Given the description of an element on the screen output the (x, y) to click on. 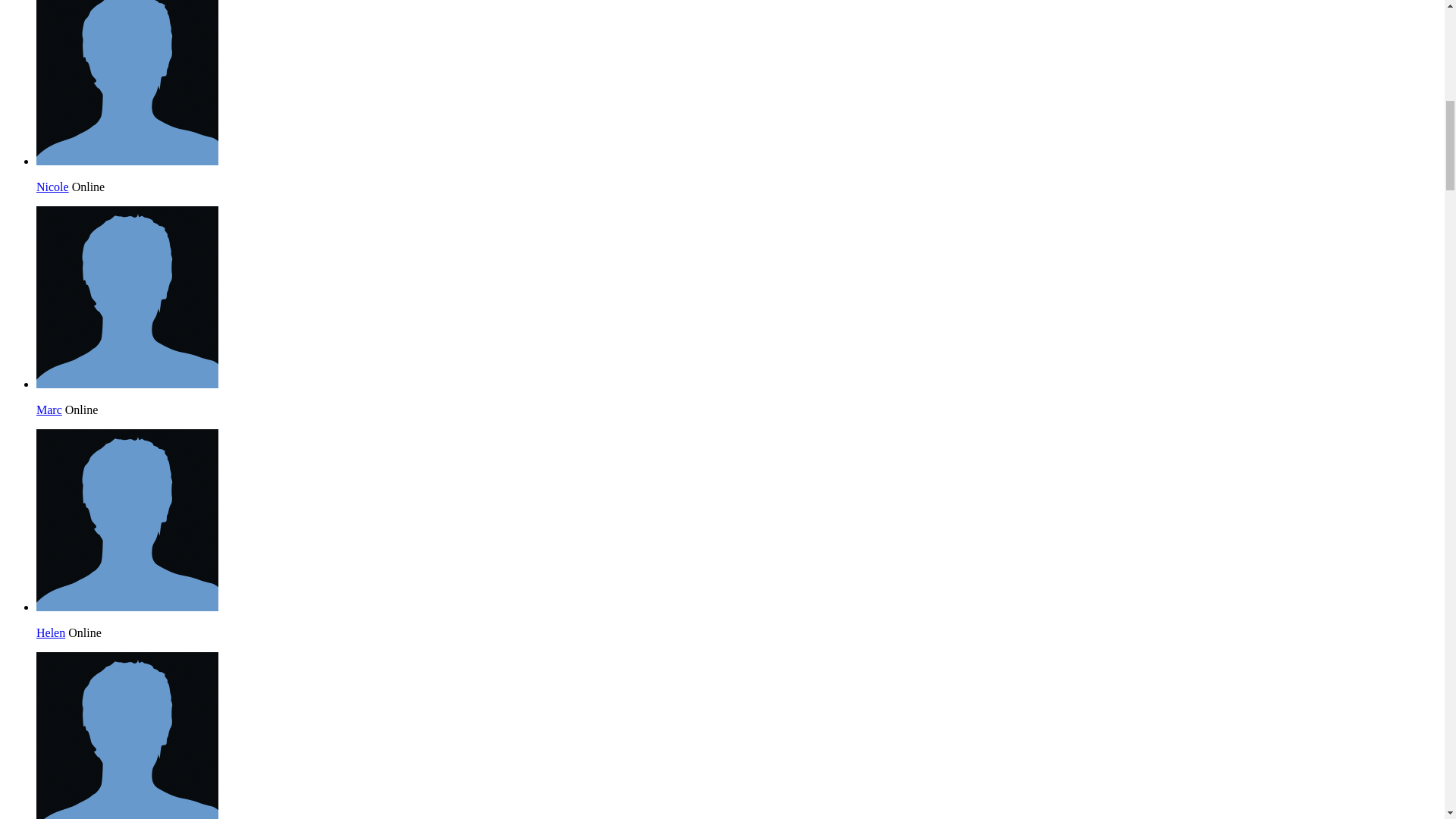
Nicole (127, 160)
Helen (50, 632)
Marc (127, 383)
Nicole (52, 186)
Marc (49, 409)
Helen (127, 606)
